Given the description of an element on the screen output the (x, y) to click on. 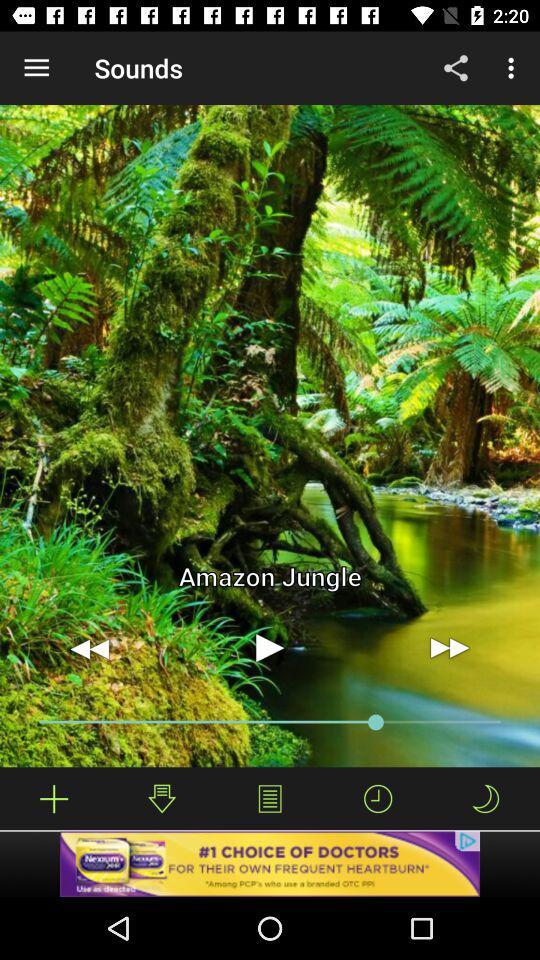
rewind (90, 648)
